Given the description of an element on the screen output the (x, y) to click on. 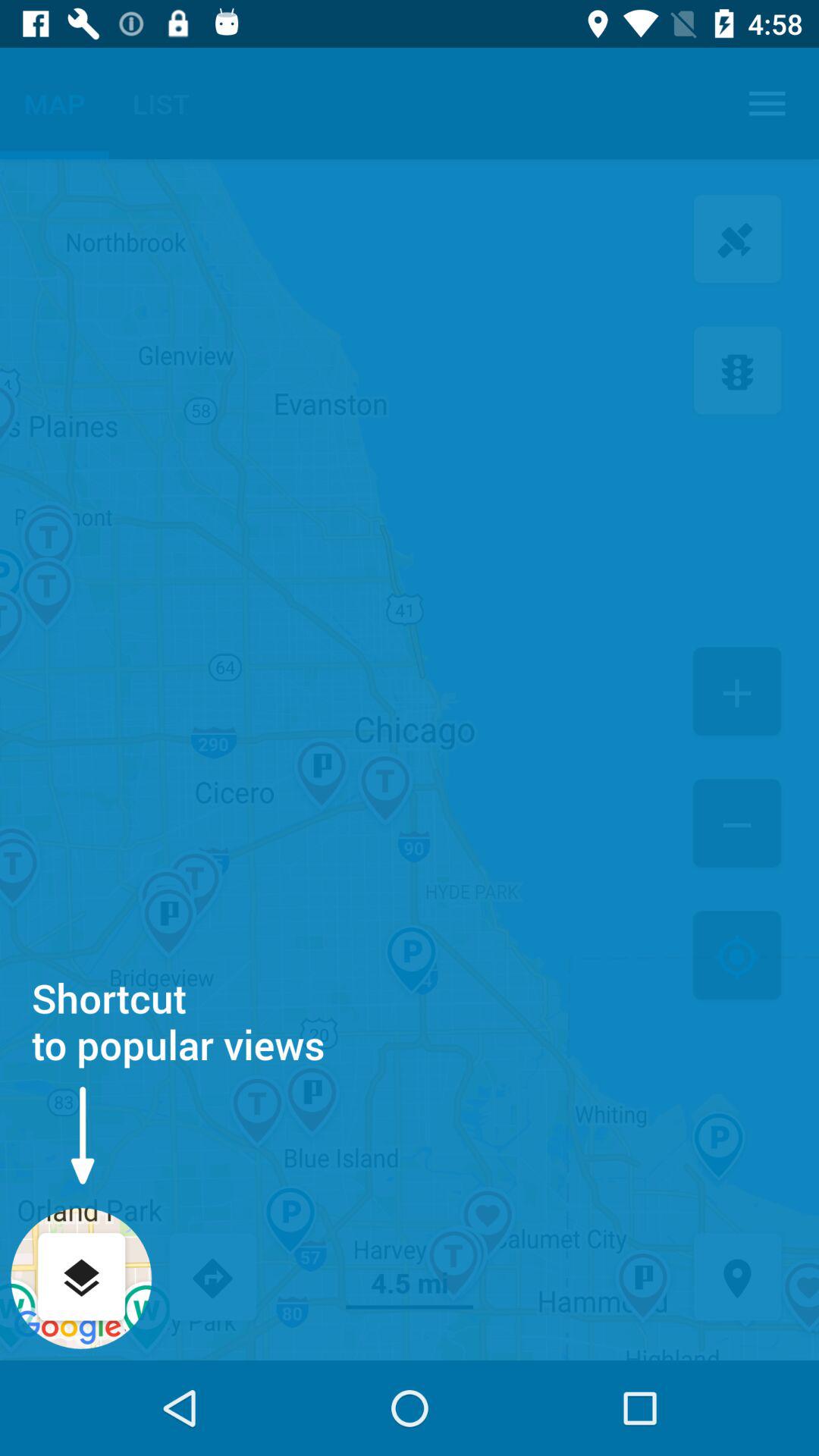
zoom in (737, 693)
